Given the description of an element on the screen output the (x, y) to click on. 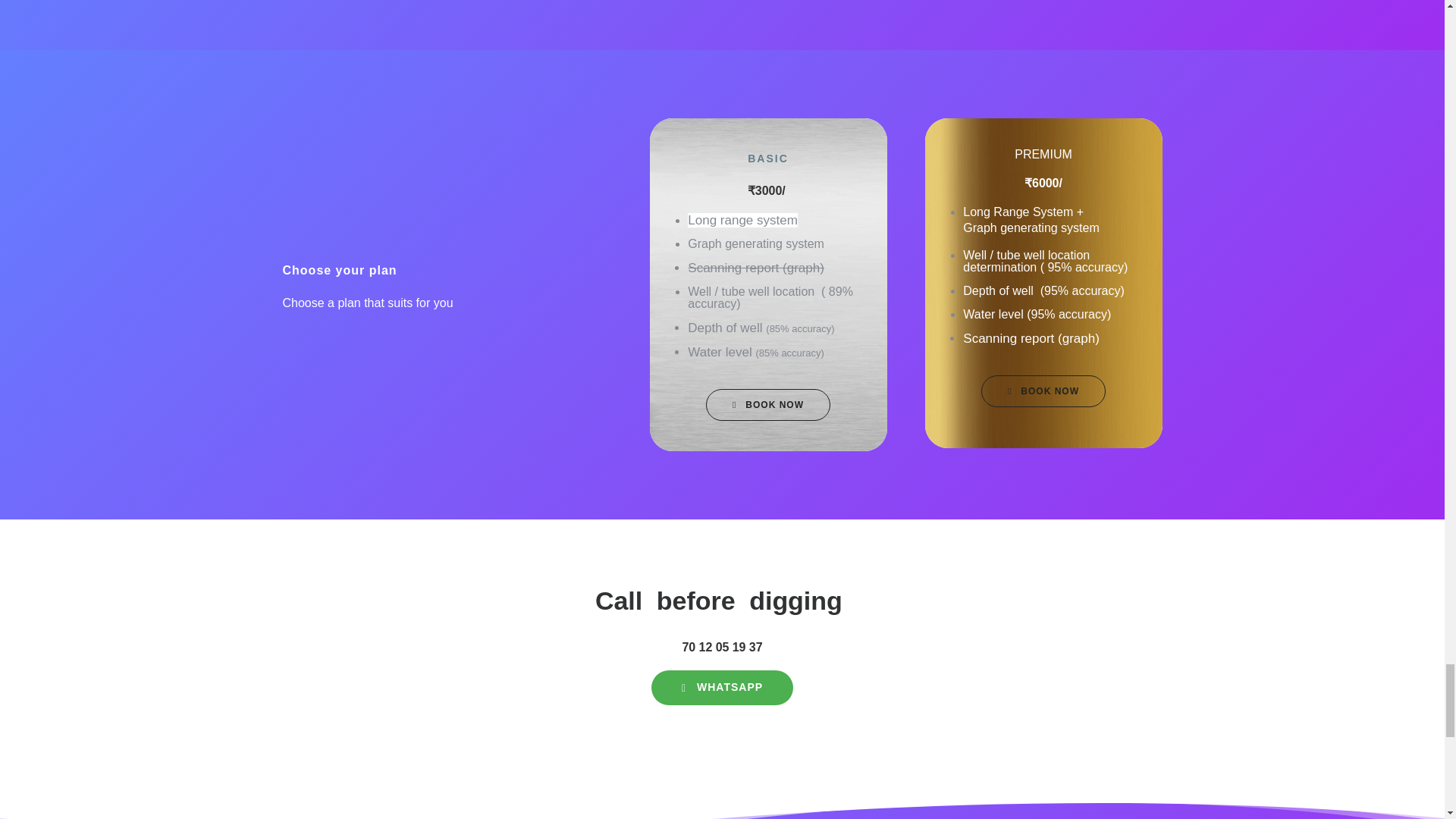
WHATSAPP (721, 687)
BOOK NOW (1043, 390)
BOOK NOW (767, 404)
